Given the description of an element on the screen output the (x, y) to click on. 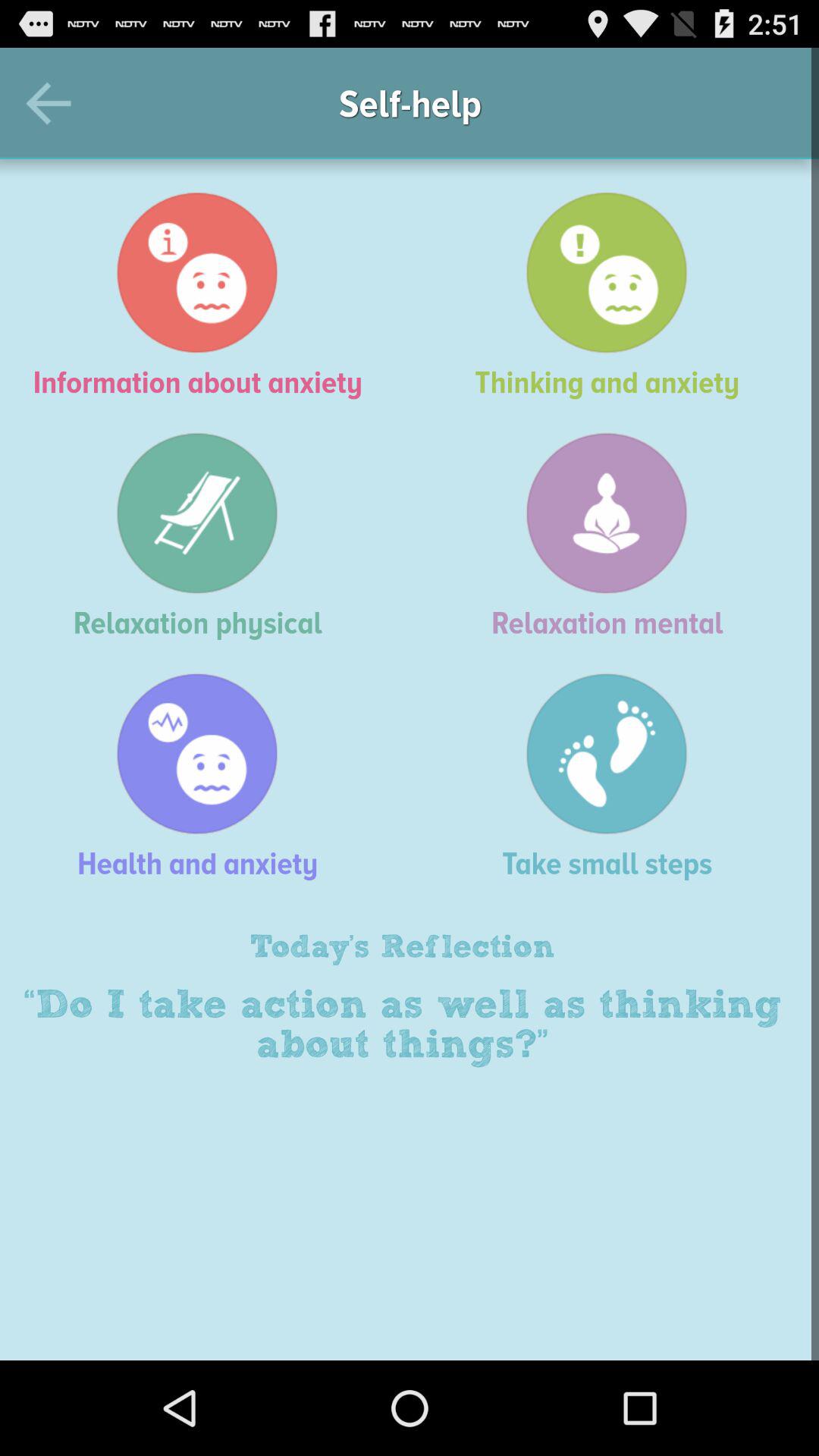
turn on the item next to relaxation physical item (614, 535)
